Given the description of an element on the screen output the (x, y) to click on. 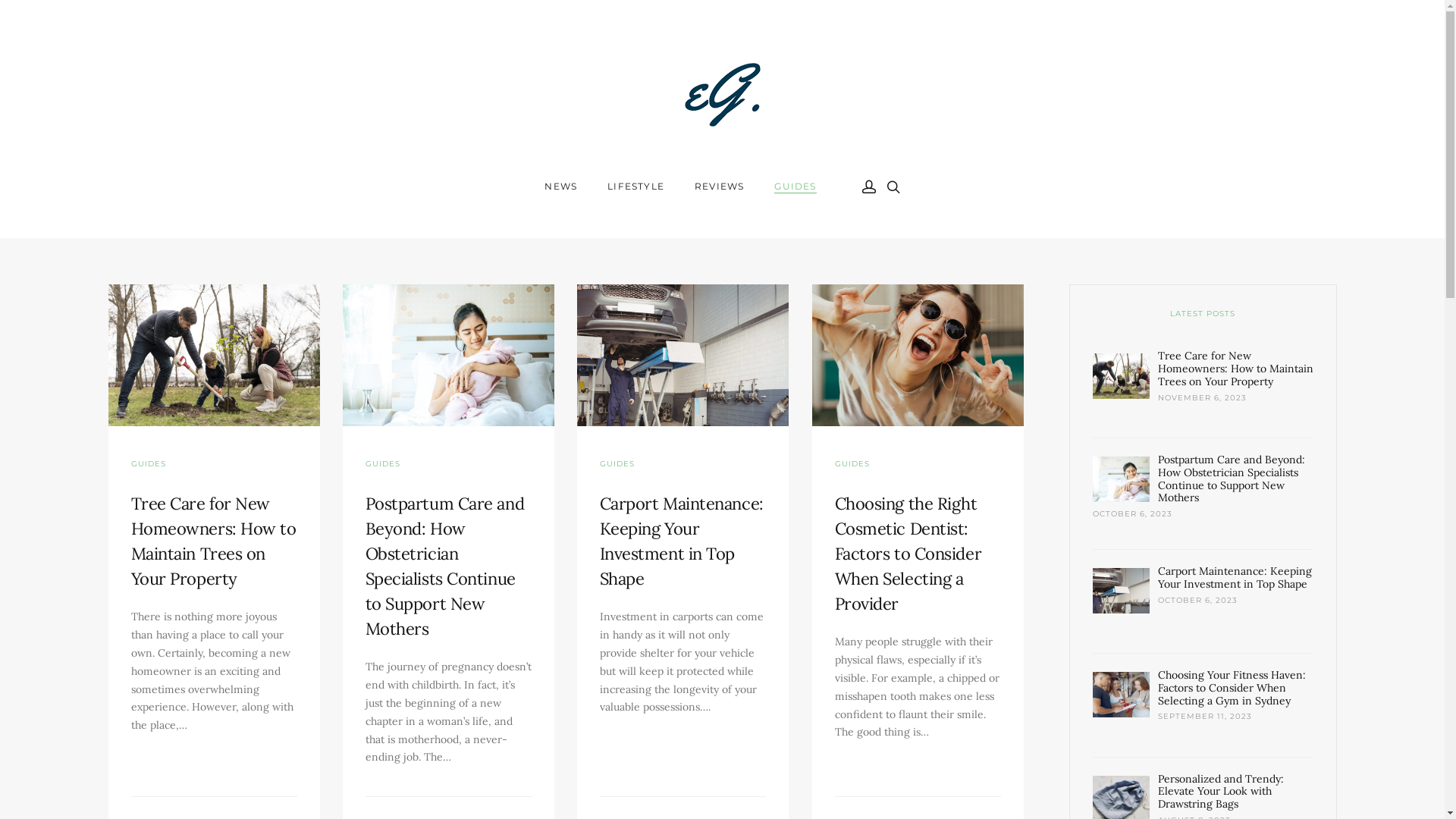
GUIDES Element type: text (382, 463)
LIFESTYLE Element type: text (635, 186)
GUIDES Element type: text (147, 463)
GUIDES Element type: text (794, 186)
GUIDES Element type: text (616, 463)
Carport Maintenance: Keeping Your Investment in Top Shape Element type: hover (681, 354)
NEWS Element type: text (560, 186)
Carport Maintenance: Keeping Your Investment in Top Shape Element type: text (680, 540)
GUIDES Element type: text (851, 463)
REVIEWS Element type: text (718, 186)
Carport Maintenance: Keeping Your Investment in Top Shape Element type: text (1234, 577)
